Given the description of an element on the screen output the (x, y) to click on. 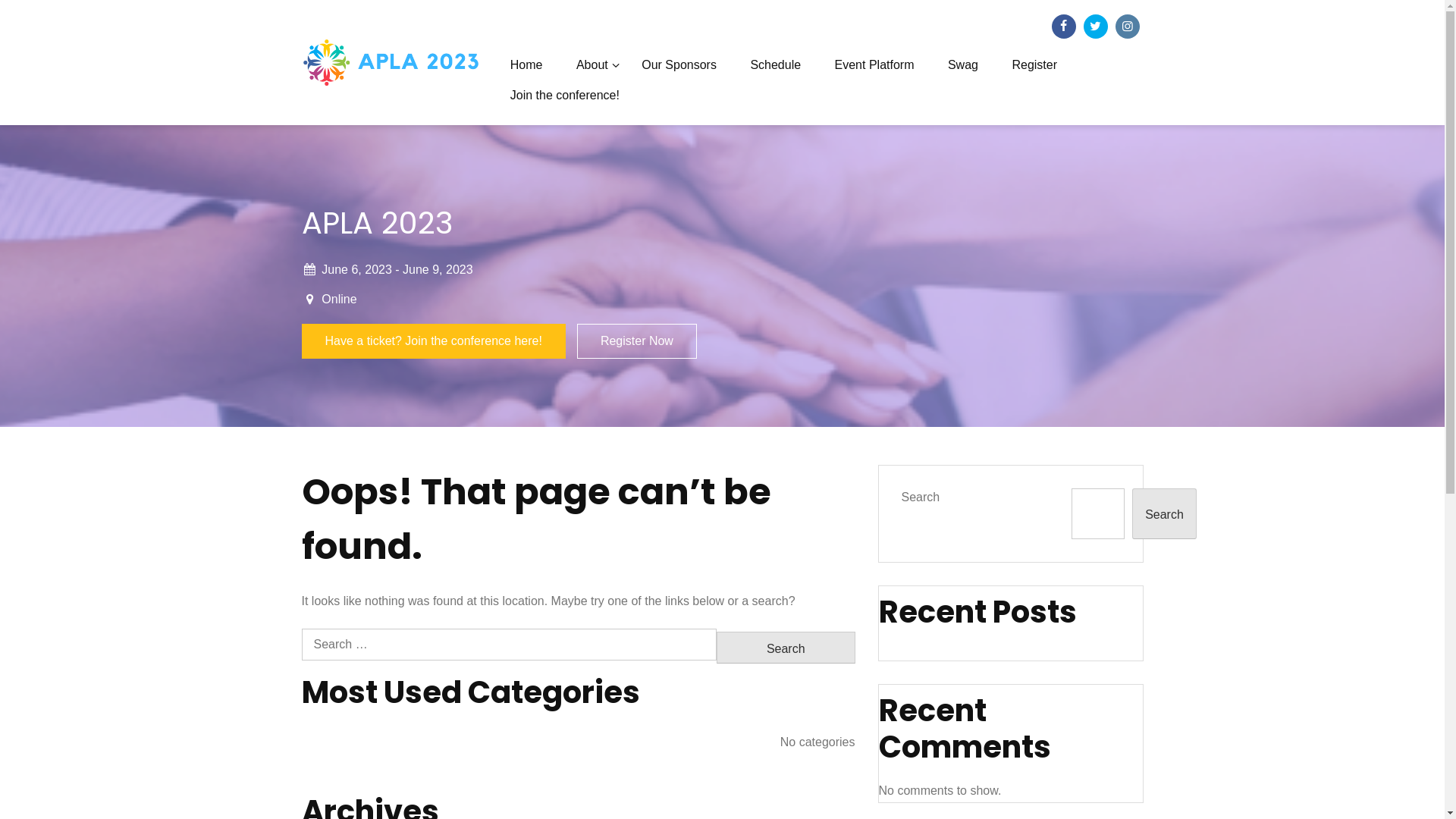
Schedule Element type: text (774, 65)
Search Element type: text (785, 647)
Join the conference! Element type: text (564, 95)
Register Now Element type: text (636, 340)
Search Element type: text (1164, 513)
Register Element type: text (1034, 65)
Our Sponsors Element type: text (678, 65)
Swag Element type: text (962, 65)
About Element type: text (592, 65)
Event Platform Element type: text (874, 65)
Have a ticket? Join the conference here! Element type: text (433, 340)
Home Element type: text (526, 65)
